Given the description of an element on the screen output the (x, y) to click on. 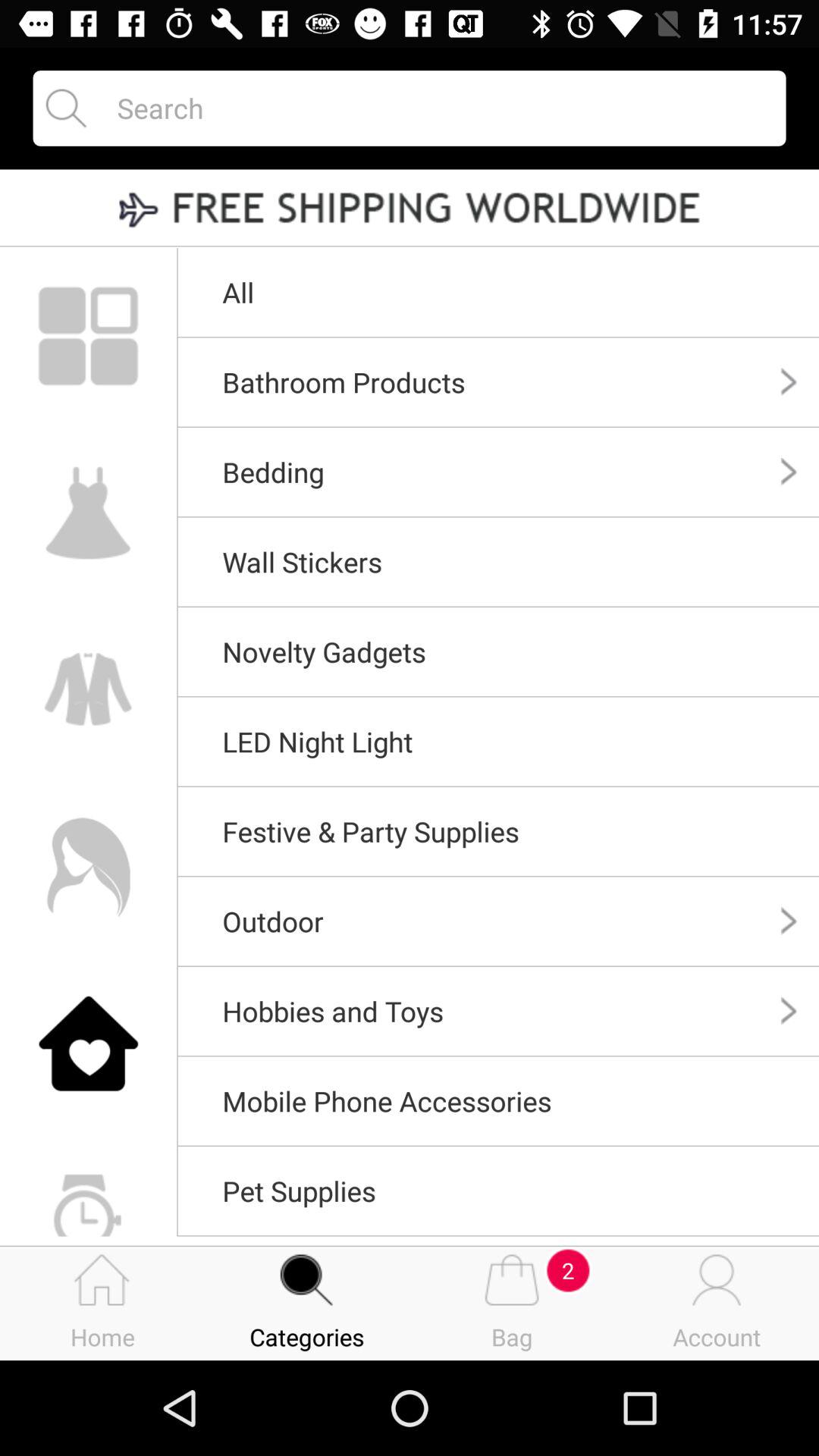
free shipping worldwide button (409, 209)
